Given the description of an element on the screen output the (x, y) to click on. 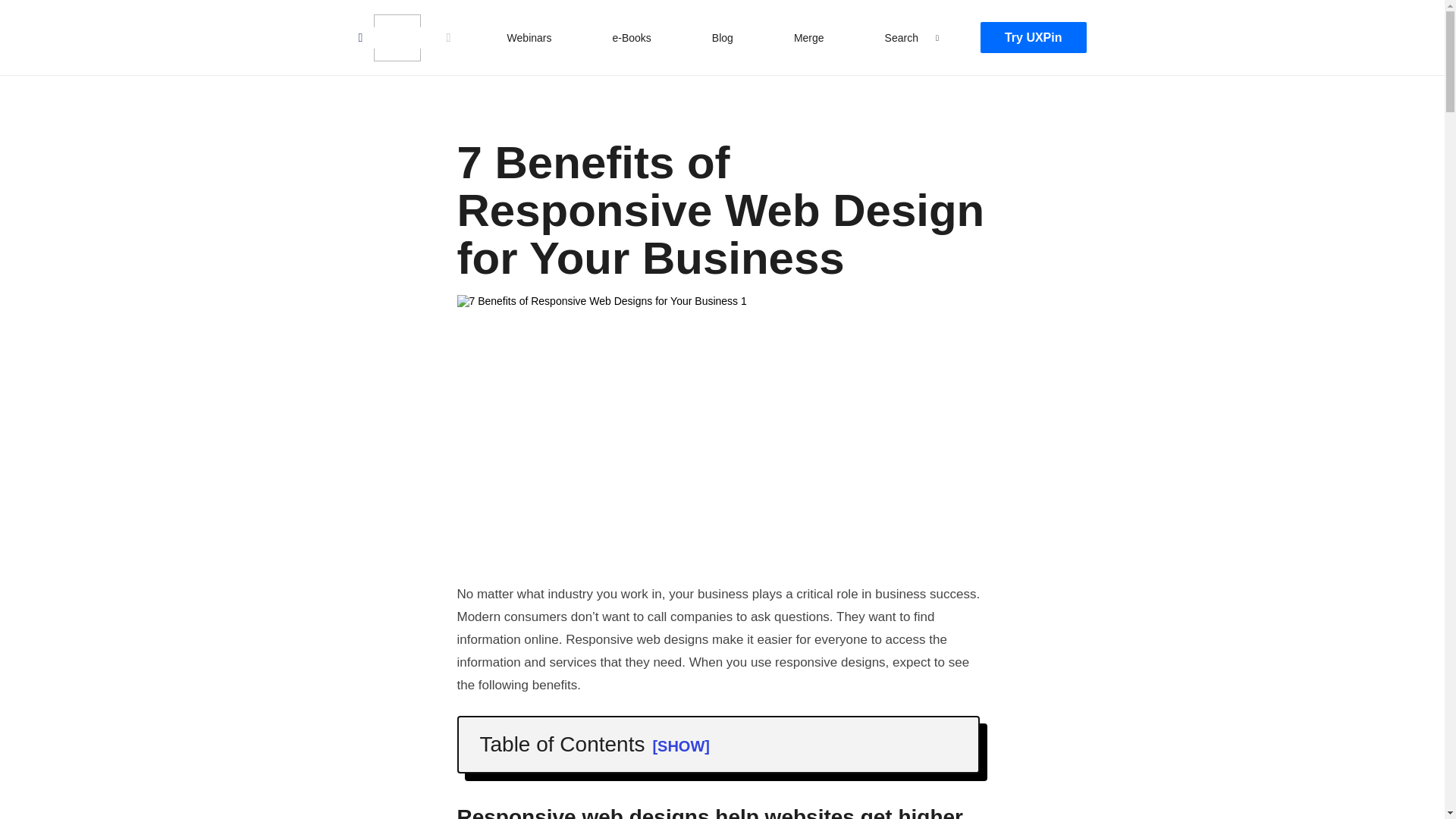
Try UXPin (1032, 37)
Search (901, 37)
Studio by UXPin (396, 37)
Search (27, 13)
e-Books (631, 37)
Merge (808, 37)
Studio by UXPin (396, 37)
Blog (722, 37)
Webinars (529, 37)
